Given the description of an element on the screen output the (x, y) to click on. 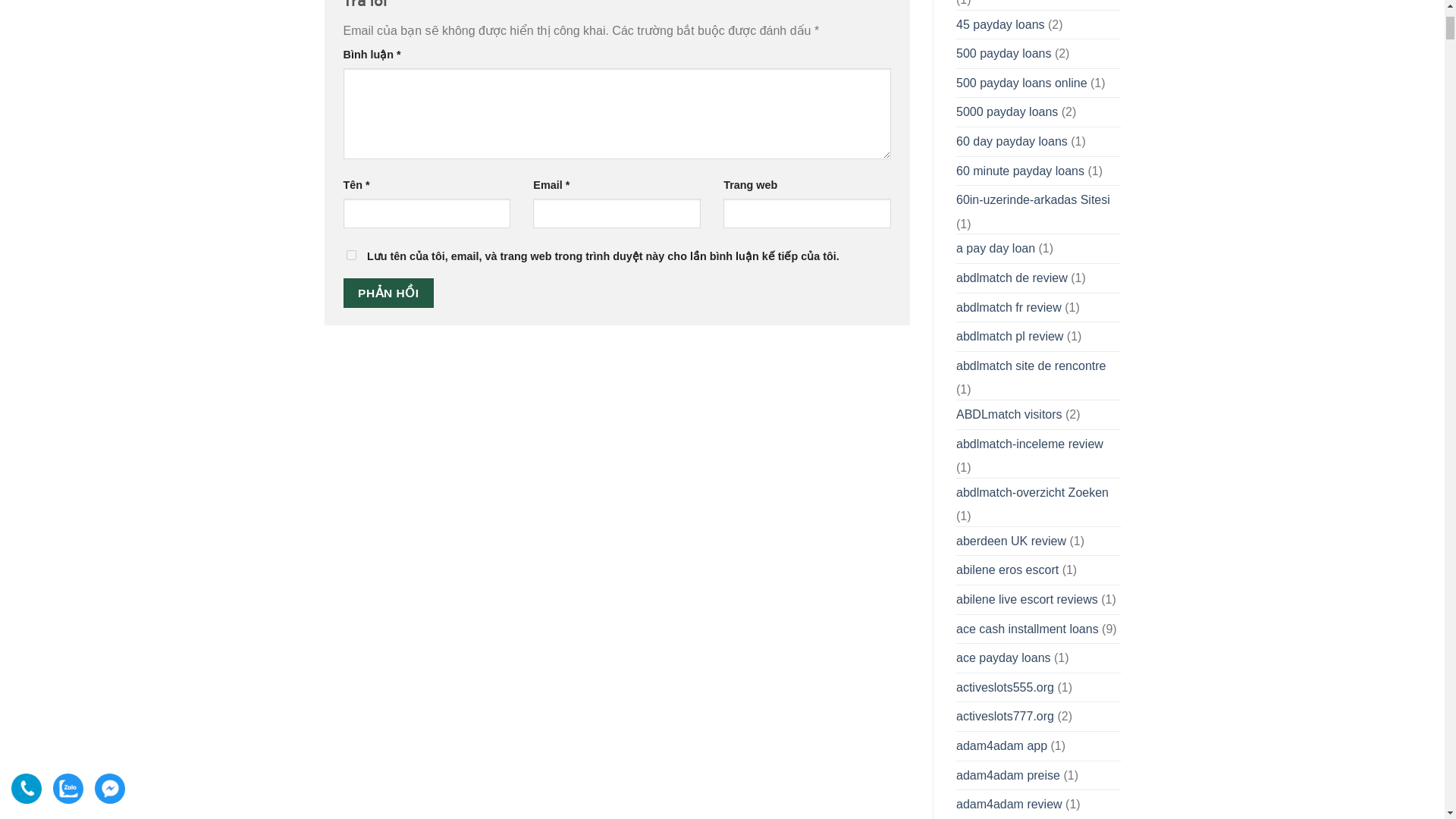
yes (350, 255)
